Given the description of an element on the screen output the (x, y) to click on. 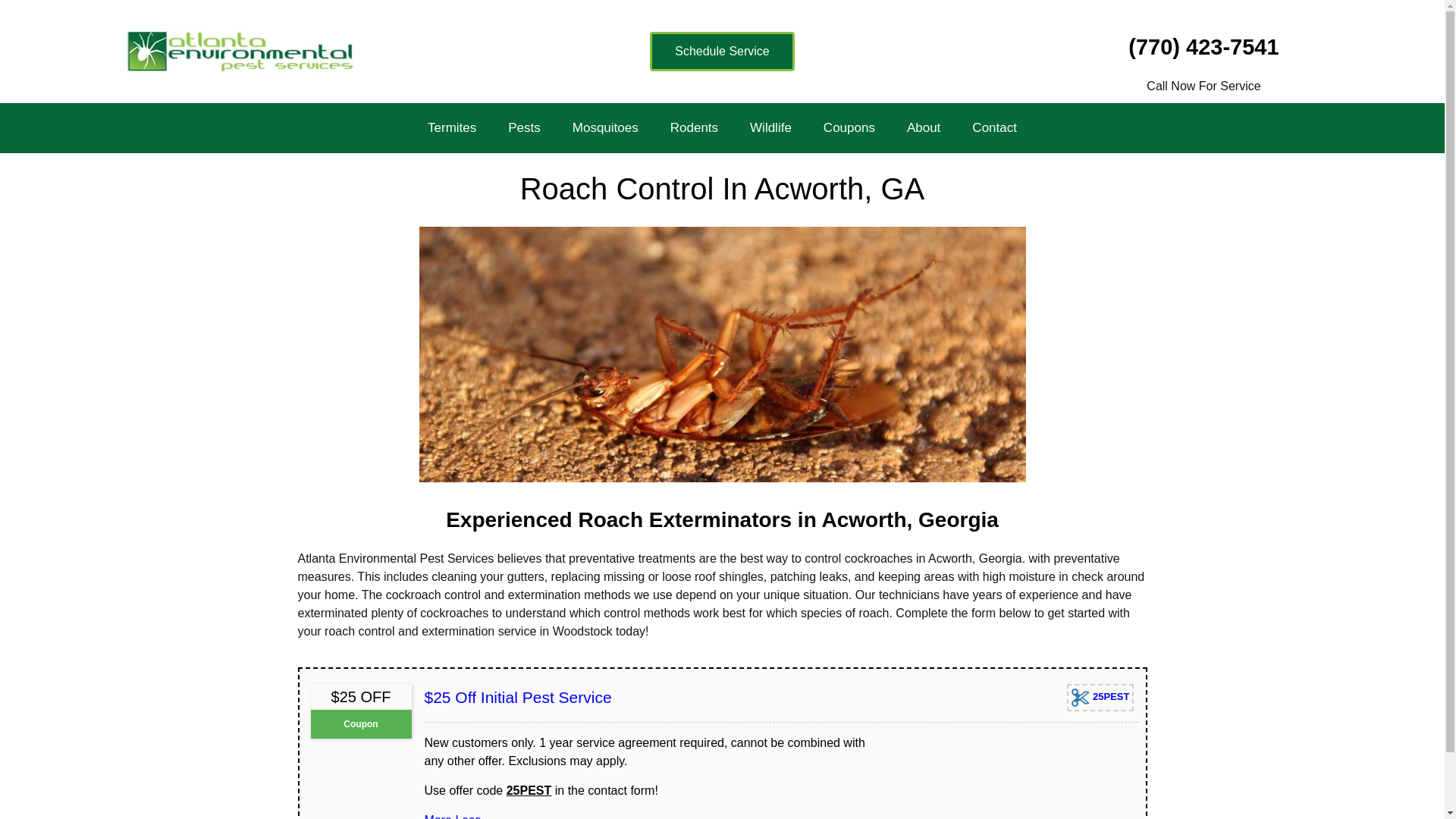
Mosquitoes (605, 127)
Termites (452, 127)
About (923, 127)
Coupons (848, 127)
Schedule Service (721, 51)
Contact (994, 127)
Rodents (694, 127)
Click To Copy Coupon (1100, 697)
Pests (524, 127)
Wildlife (770, 127)
